Given the description of an element on the screen output the (x, y) to click on. 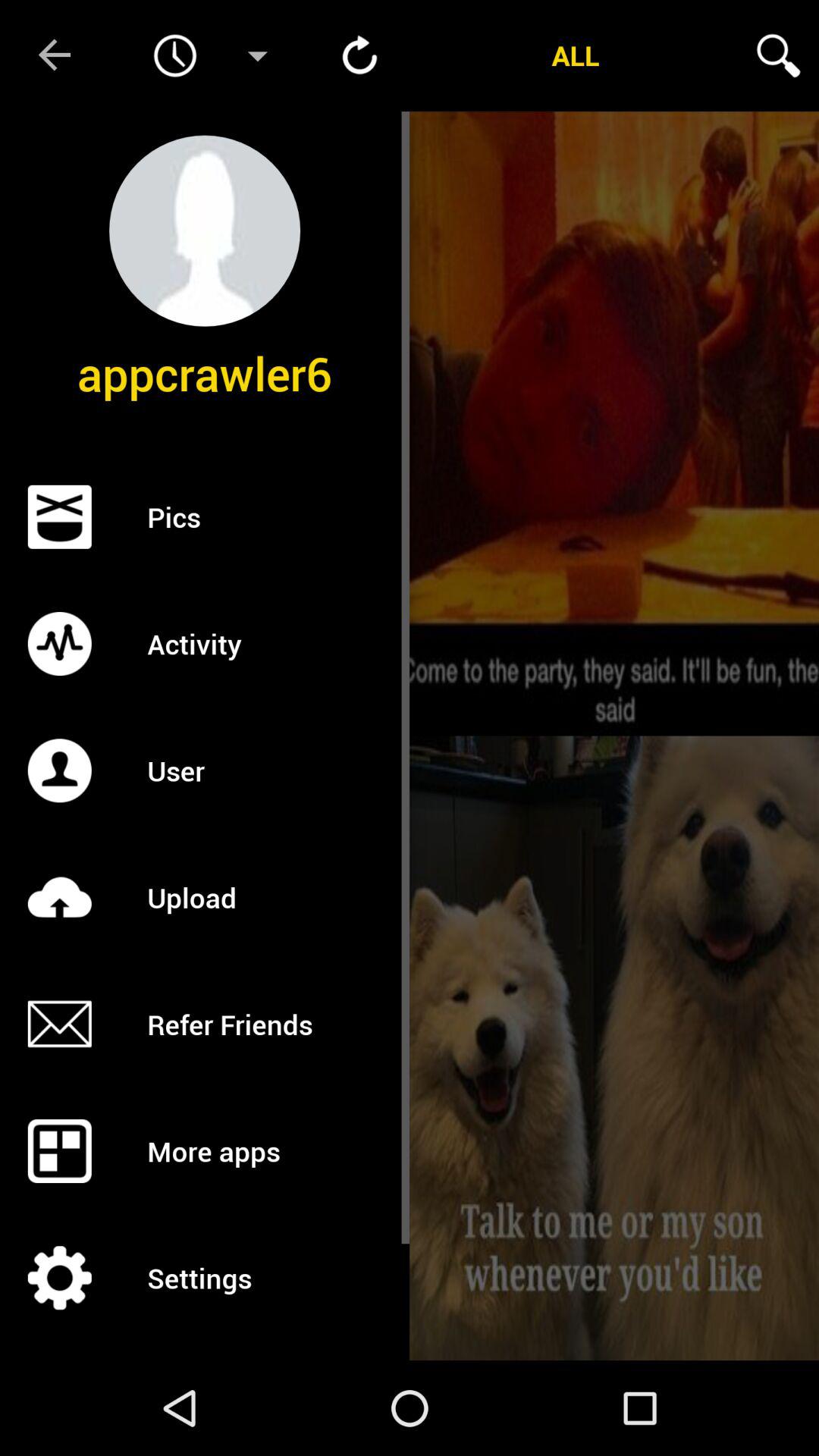
go to the person 's profile (204, 230)
